Given the description of an element on the screen output the (x, y) to click on. 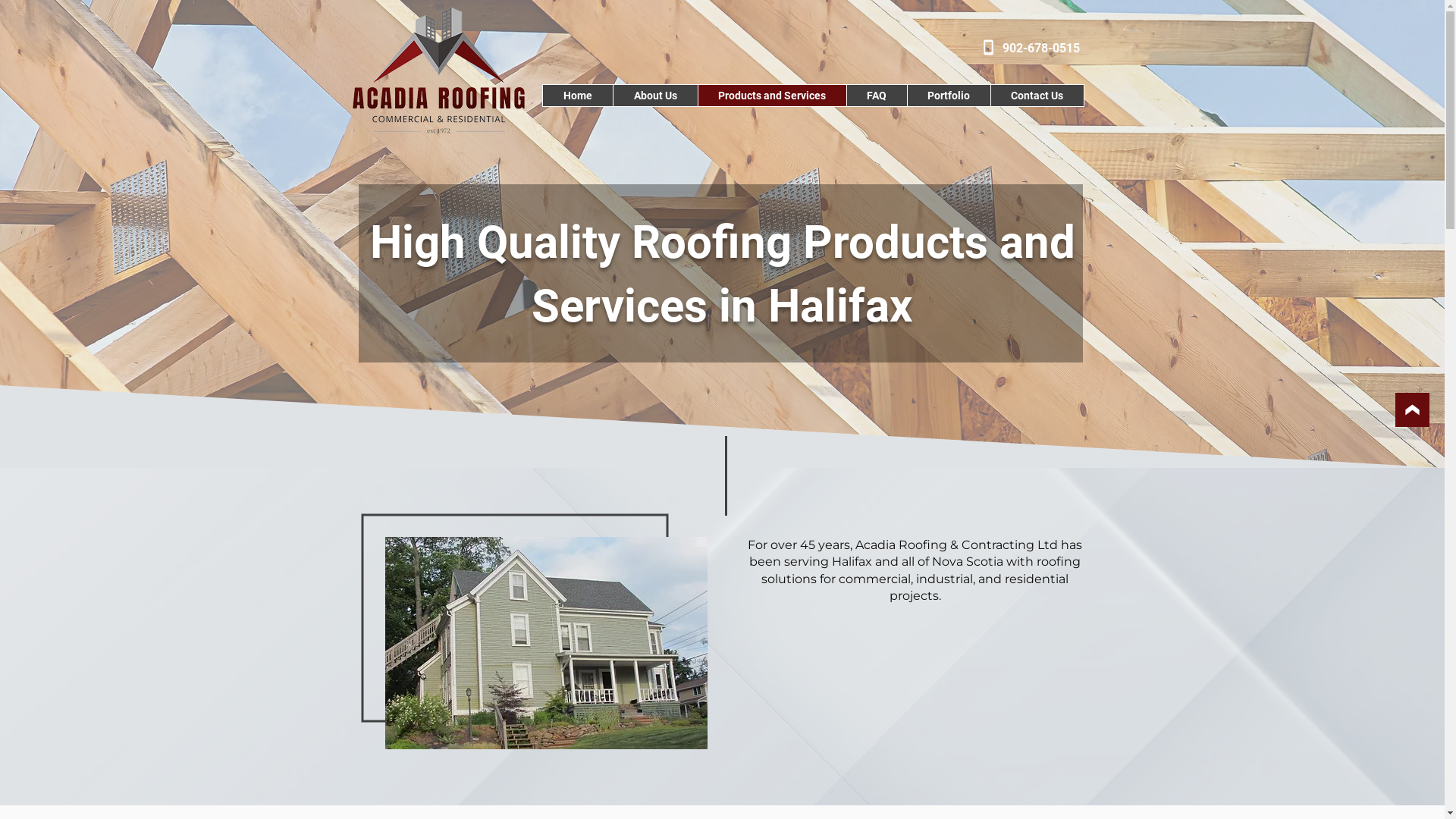
Products and Services Element type: text (771, 95)
Portfolio Element type: text (948, 95)
About Us Element type: text (654, 95)
Contact Us Element type: text (1036, 95)
FAQ Element type: text (876, 95)
Home Element type: text (577, 95)
